Given the description of an element on the screen output the (x, y) to click on. 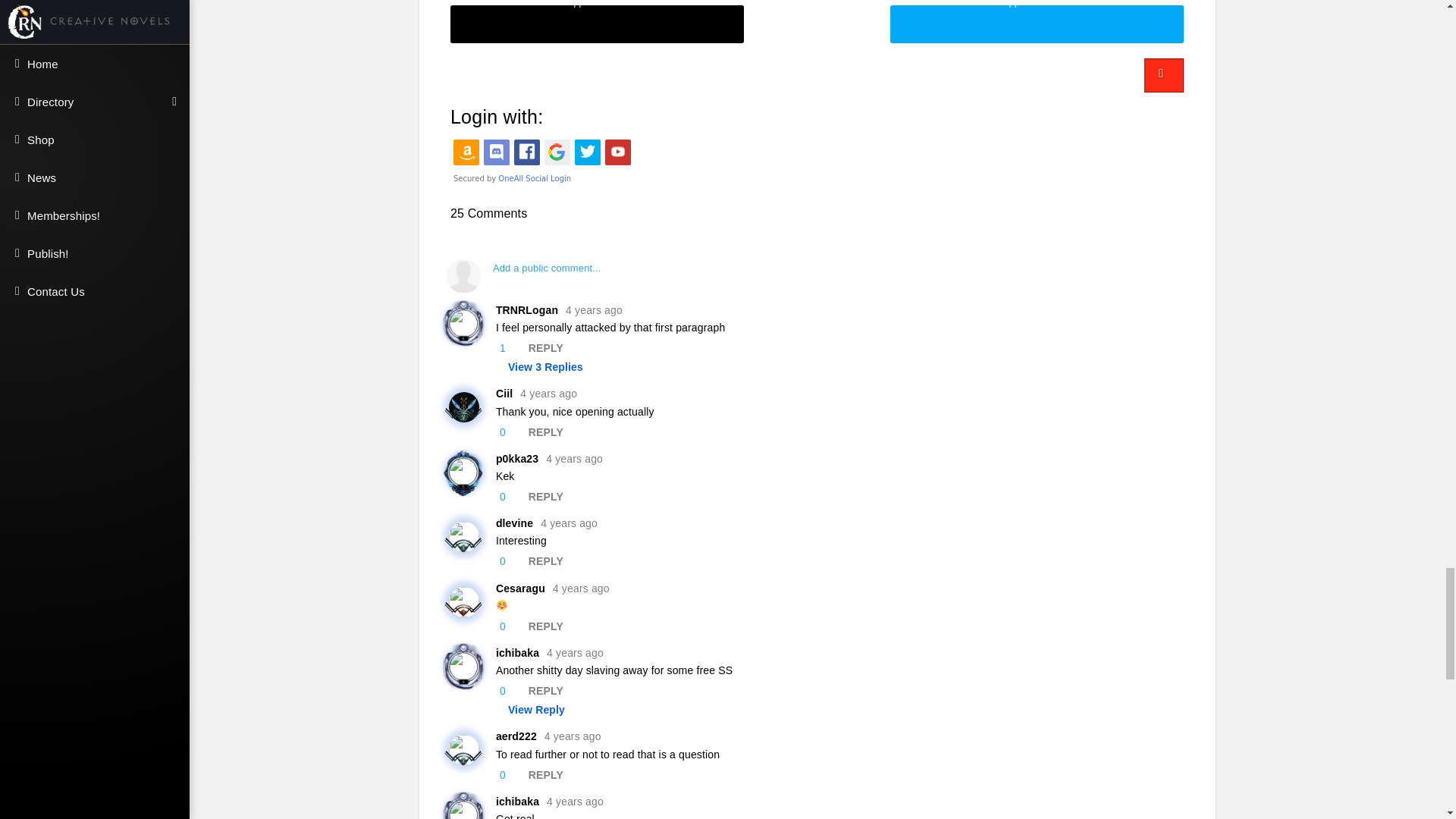
0REPLY (820, 432)
Login with Social Networks (816, 160)
0REPLY (820, 496)
1REPLY (820, 348)
Add a public comment... (816, 276)
0REPLY (820, 561)
